Given the description of an element on the screen output the (x, y) to click on. 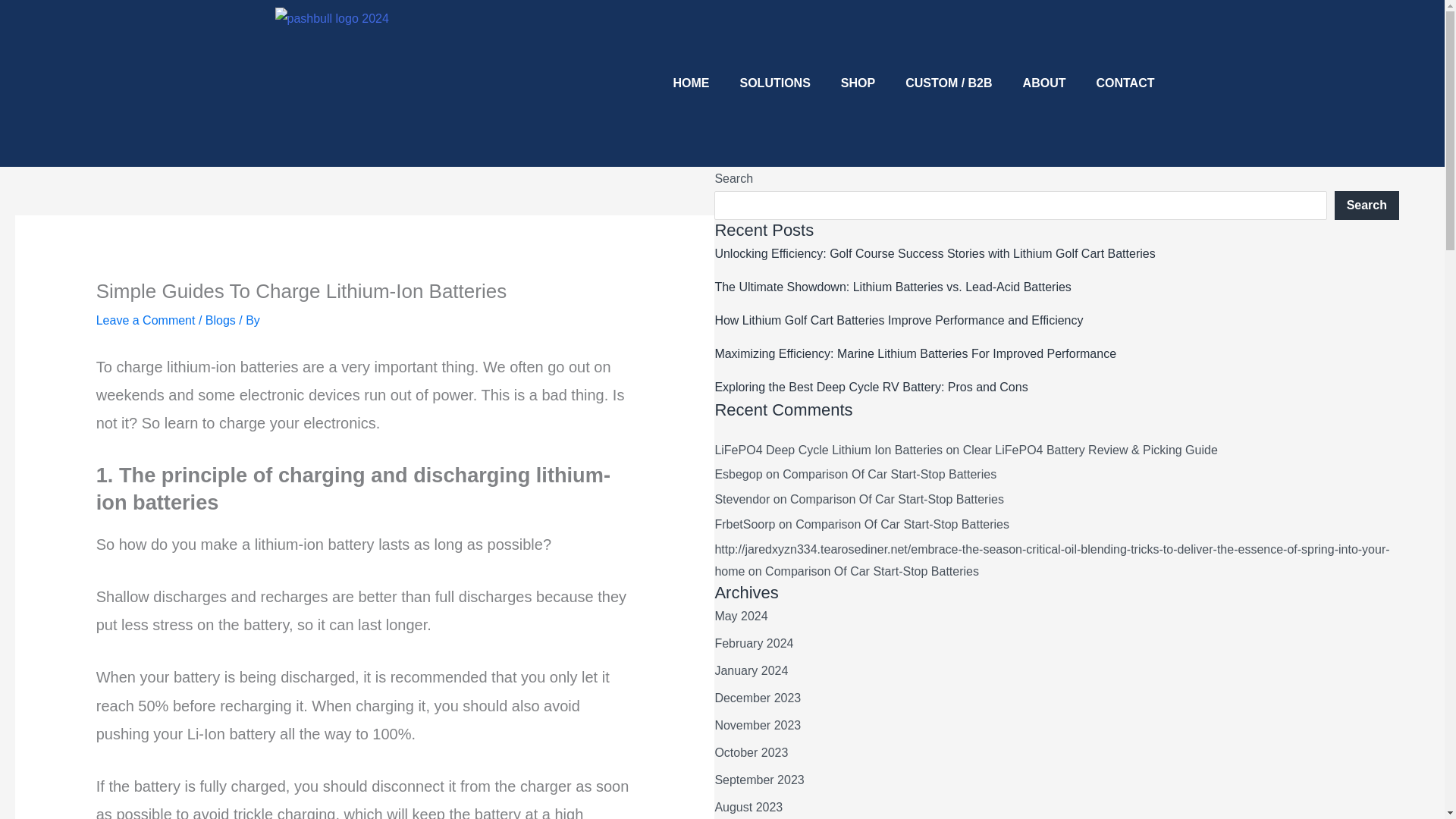
SHOP (857, 83)
HOME (691, 83)
CONTACT (1124, 83)
ABOUT (1044, 83)
SOLUTIONS (775, 83)
